Given the description of an element on the screen output the (x, y) to click on. 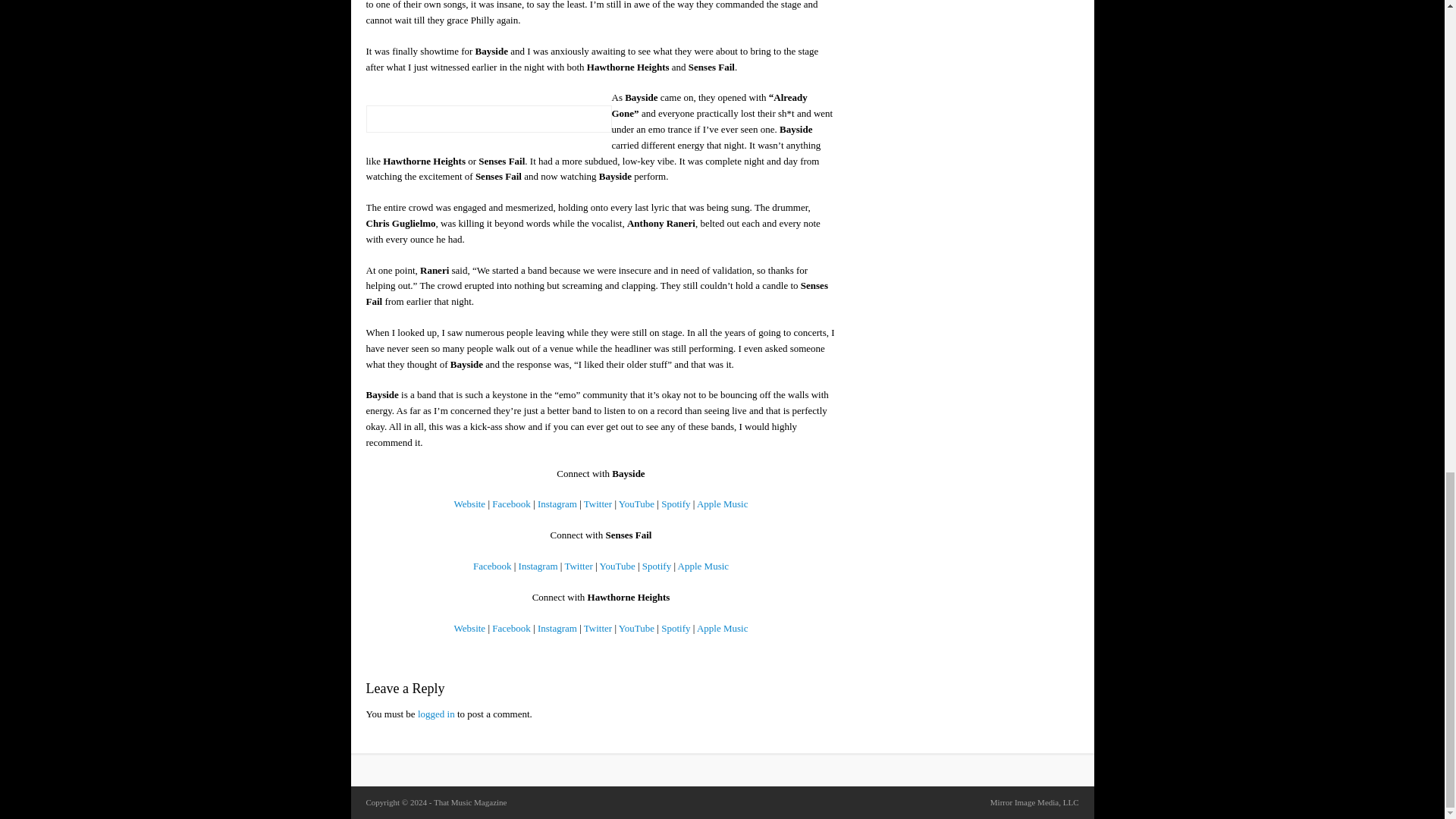
Instagram (556, 503)
Website (470, 503)
Facebook (511, 503)
